Given the description of an element on the screen output the (x, y) to click on. 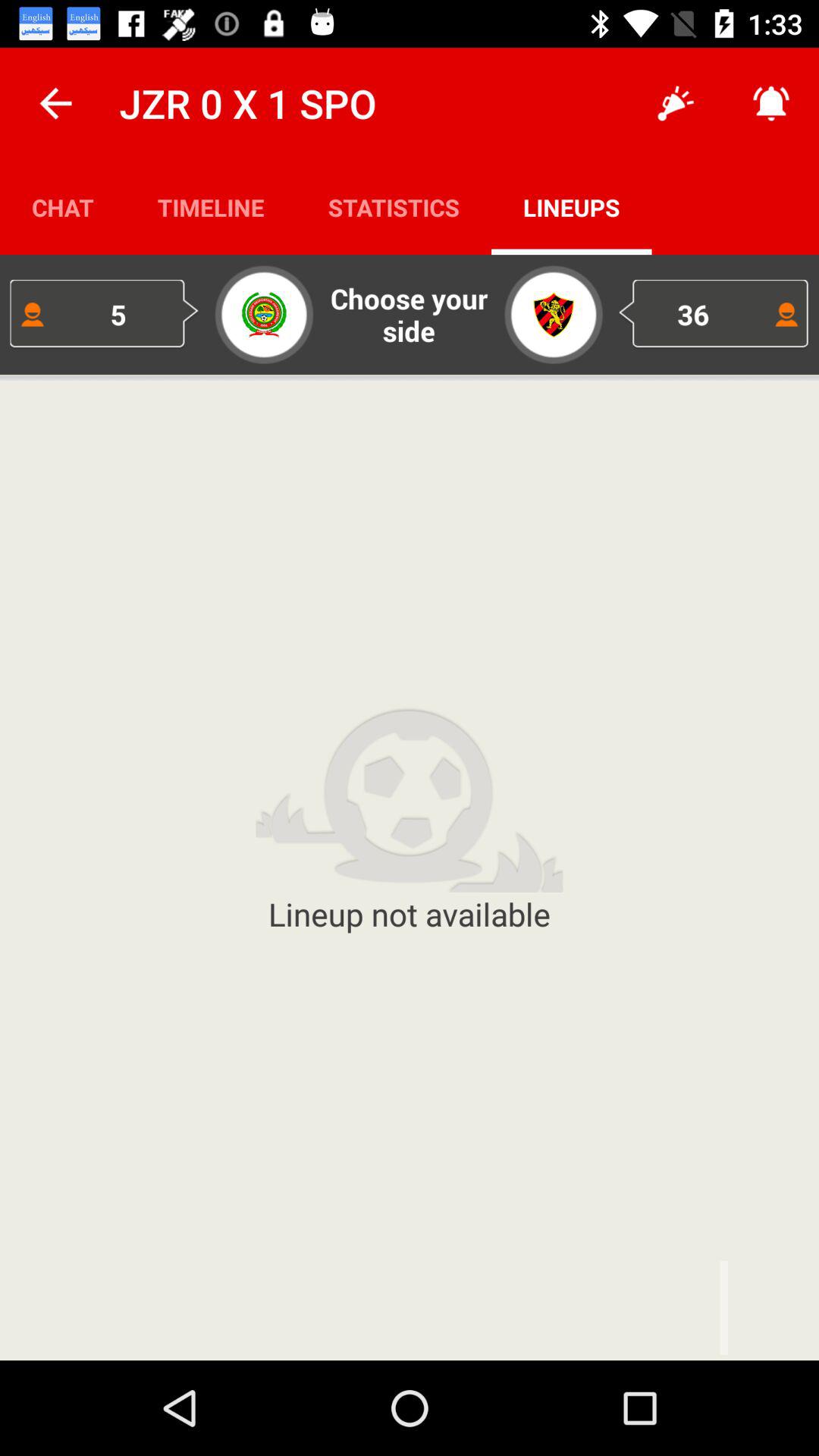
turn off icon below lineups (713, 314)
